Given the description of an element on the screen output the (x, y) to click on. 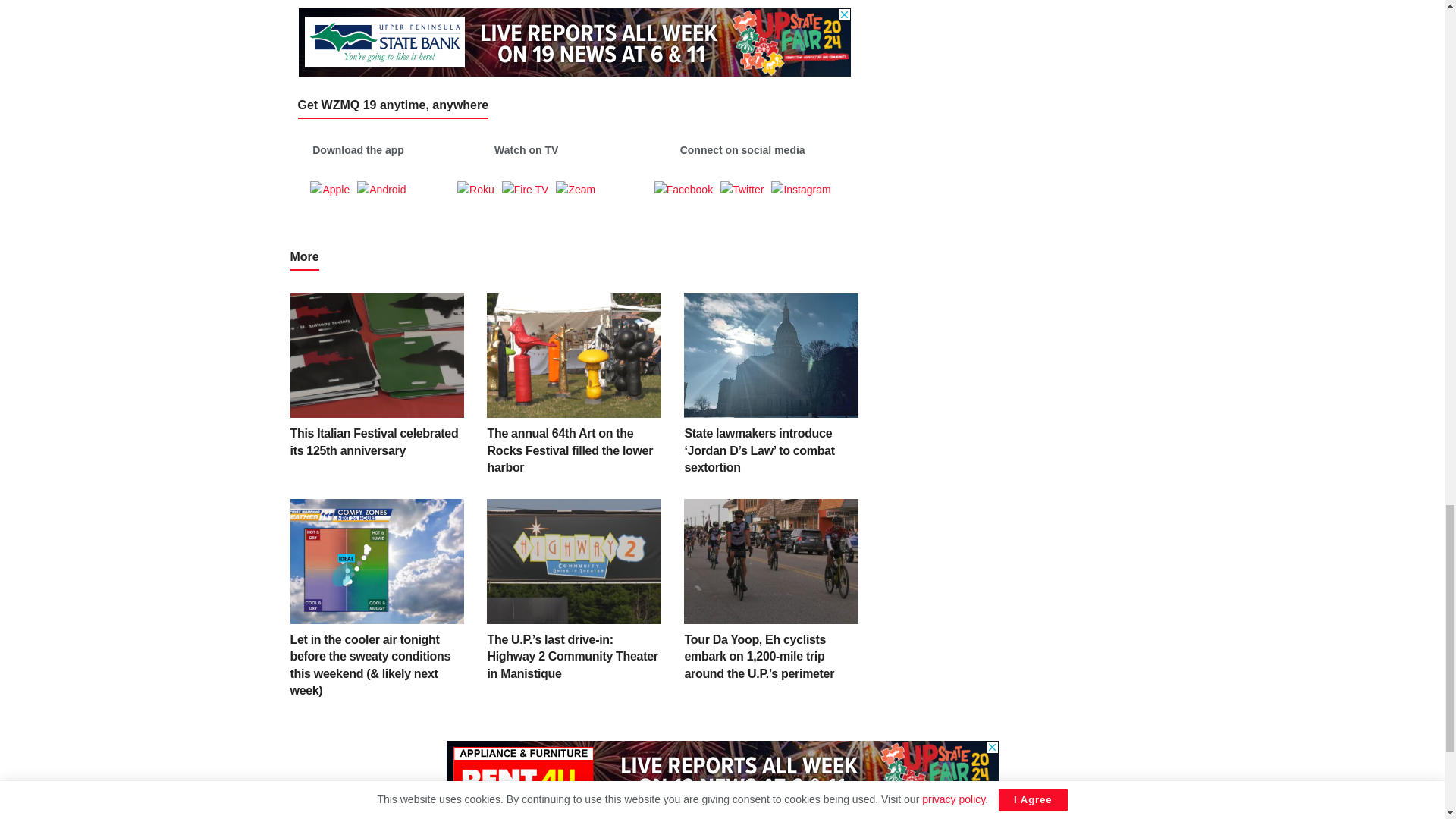
3rd party ad content (574, 42)
3rd party ad content (721, 775)
